Given the description of an element on the screen output the (x, y) to click on. 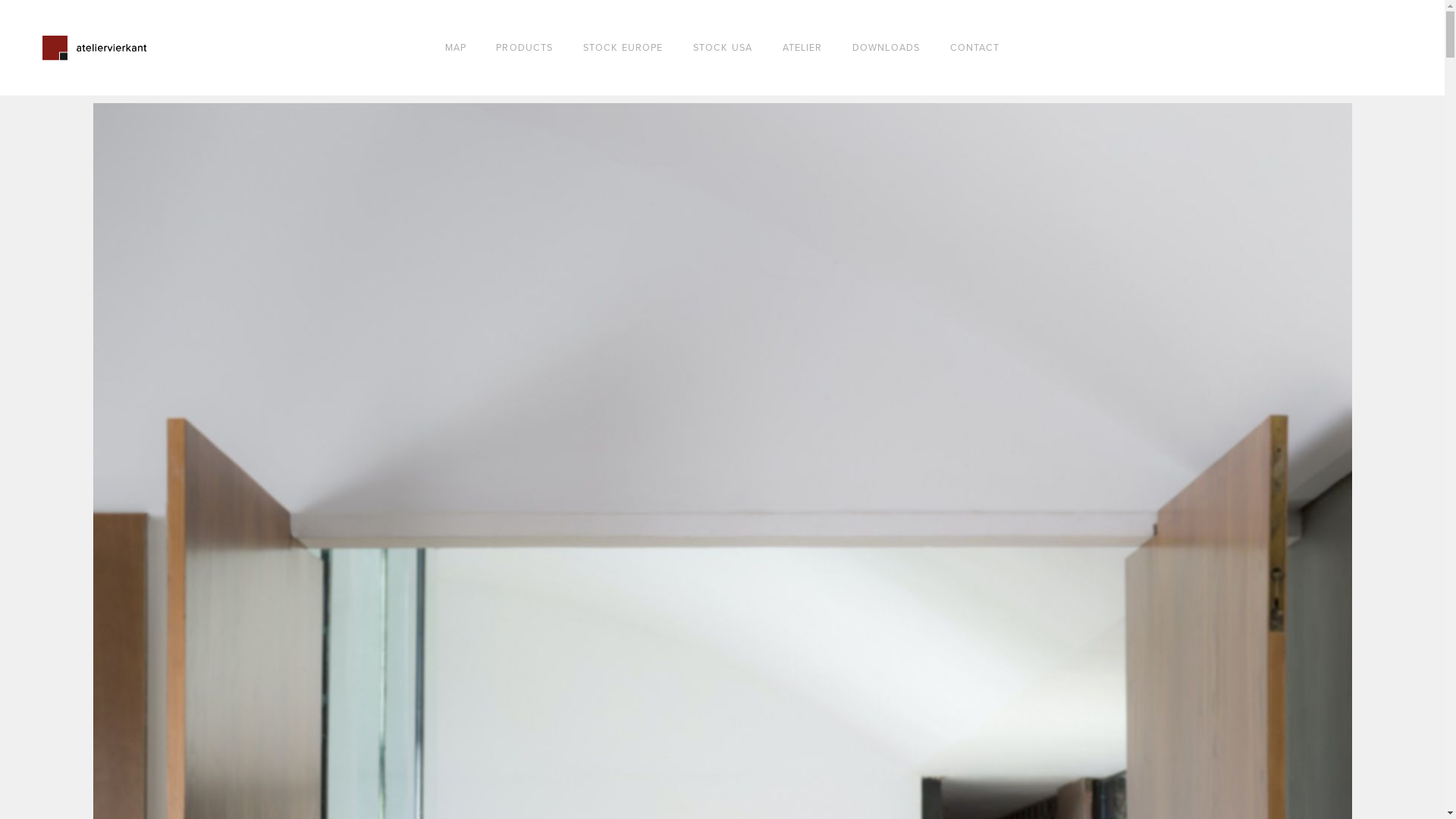
PRODUCTS Element type: text (523, 48)
DOWNLOADS Element type: text (885, 48)
CONTACT Element type: text (975, 48)
STOCK USA Element type: text (722, 48)
STOCK EUROPE Element type: text (623, 48)
ATELIER Element type: text (802, 48)
MAP Element type: text (455, 48)
